Given the description of an element on the screen output the (x, y) to click on. 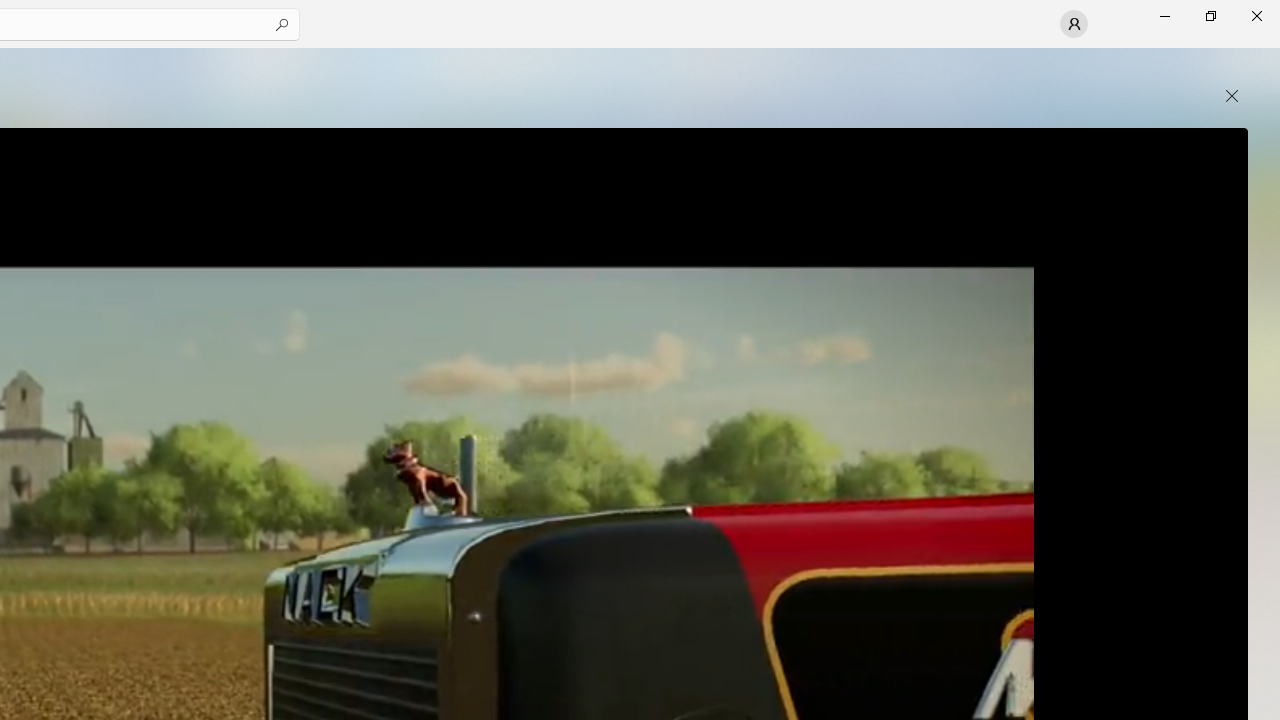
Restore Microsoft Store (1210, 15)
close popup window (1232, 95)
Minimize Microsoft Store (1164, 15)
Close Microsoft Store (1256, 15)
User profile (1073, 24)
